Given the description of an element on the screen output the (x, y) to click on. 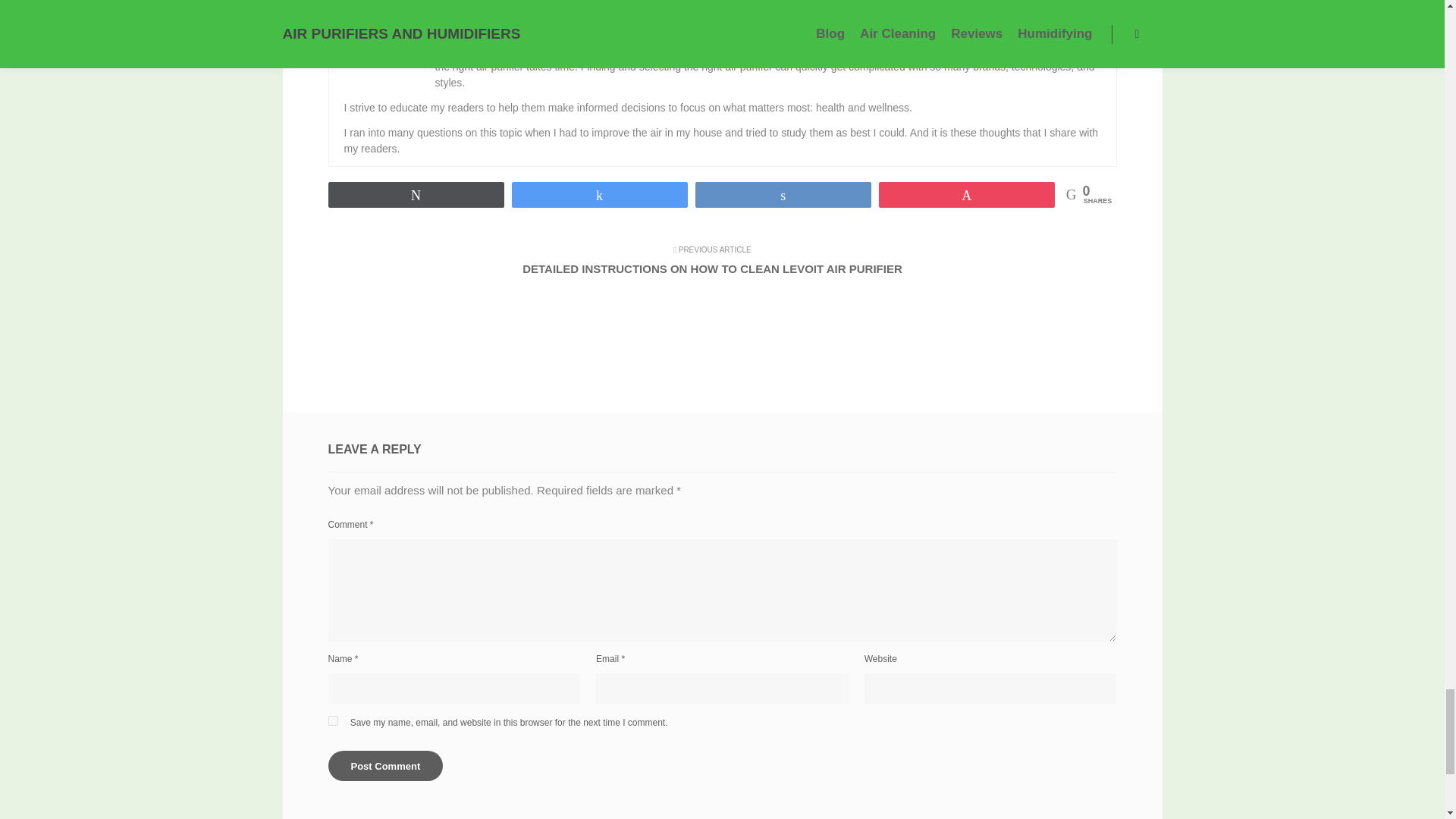
Post Comment (384, 766)
yes (332, 720)
Ami Moore (467, 6)
